Given the description of an element on the screen output the (x, y) to click on. 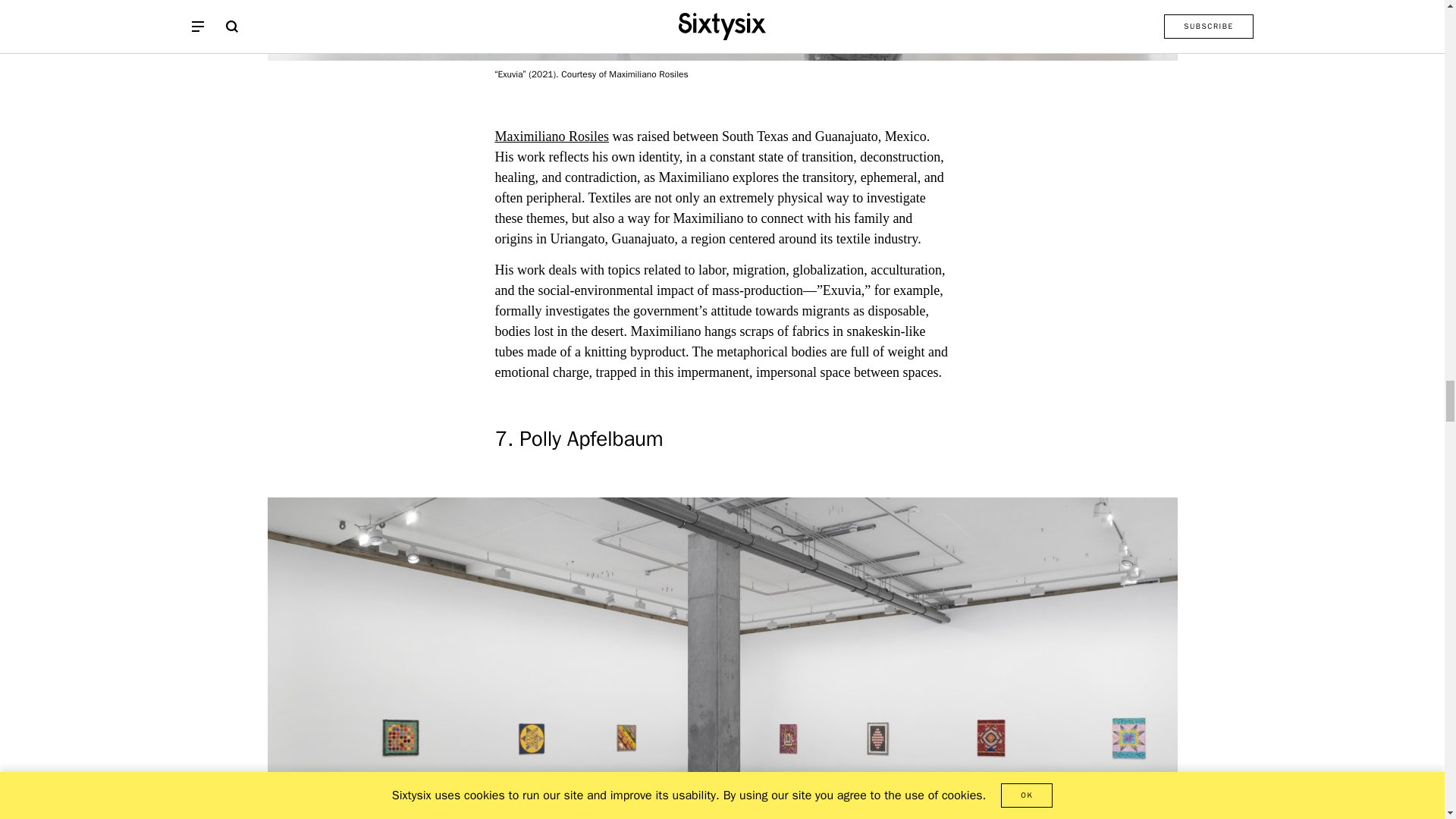
Maximiliano Rosiles (551, 136)
